Given the description of an element on the screen output the (x, y) to click on. 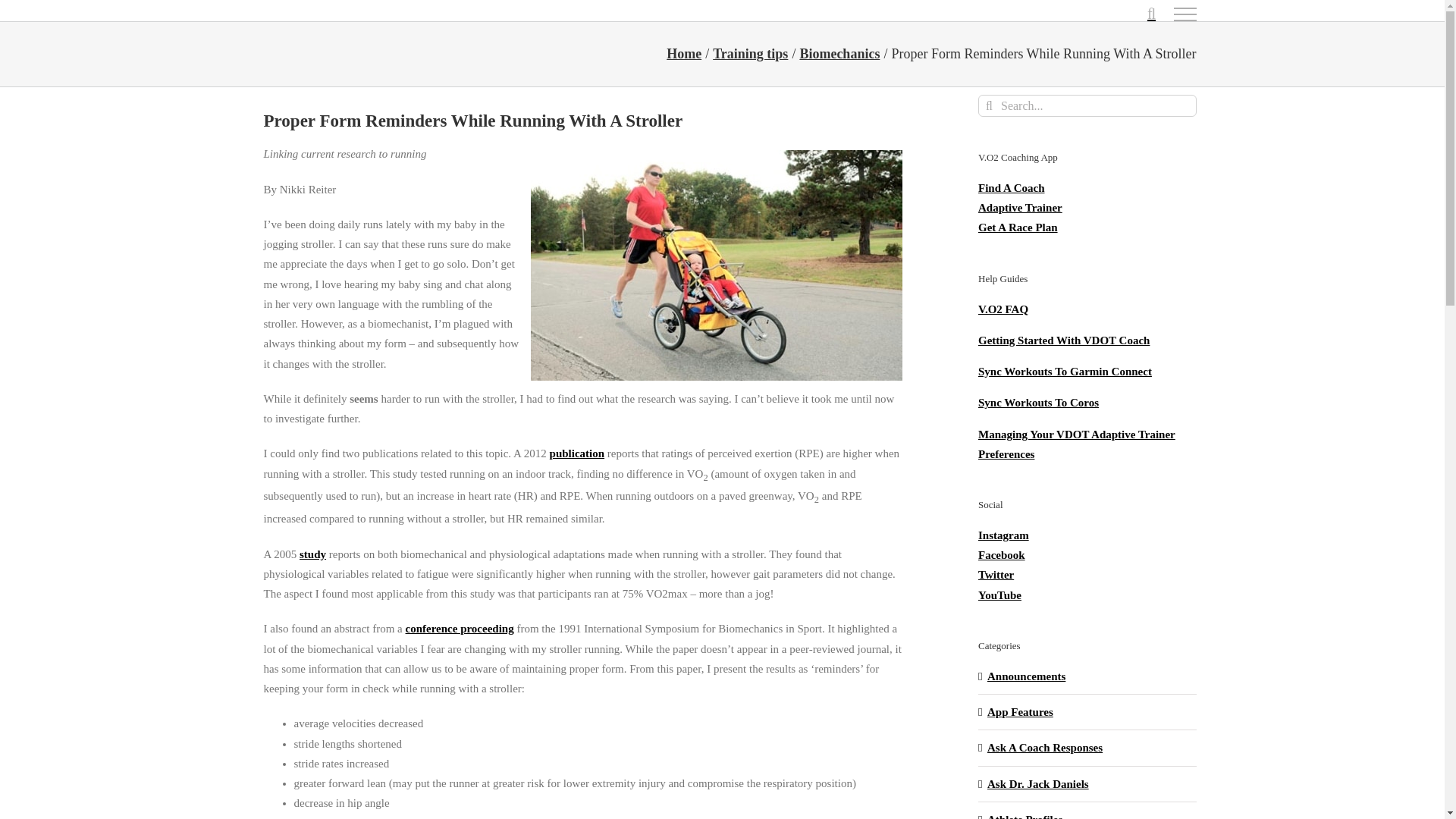
Training tips (750, 53)
Home (683, 53)
Biomechanics (839, 53)
Find A Coach (1011, 187)
publication (577, 453)
Get A Race Plan (1018, 227)
V.O2 FAQ (1002, 309)
conference proceeding (459, 628)
study (312, 553)
Adaptive Trainer (1020, 207)
